Given the description of an element on the screen output the (x, y) to click on. 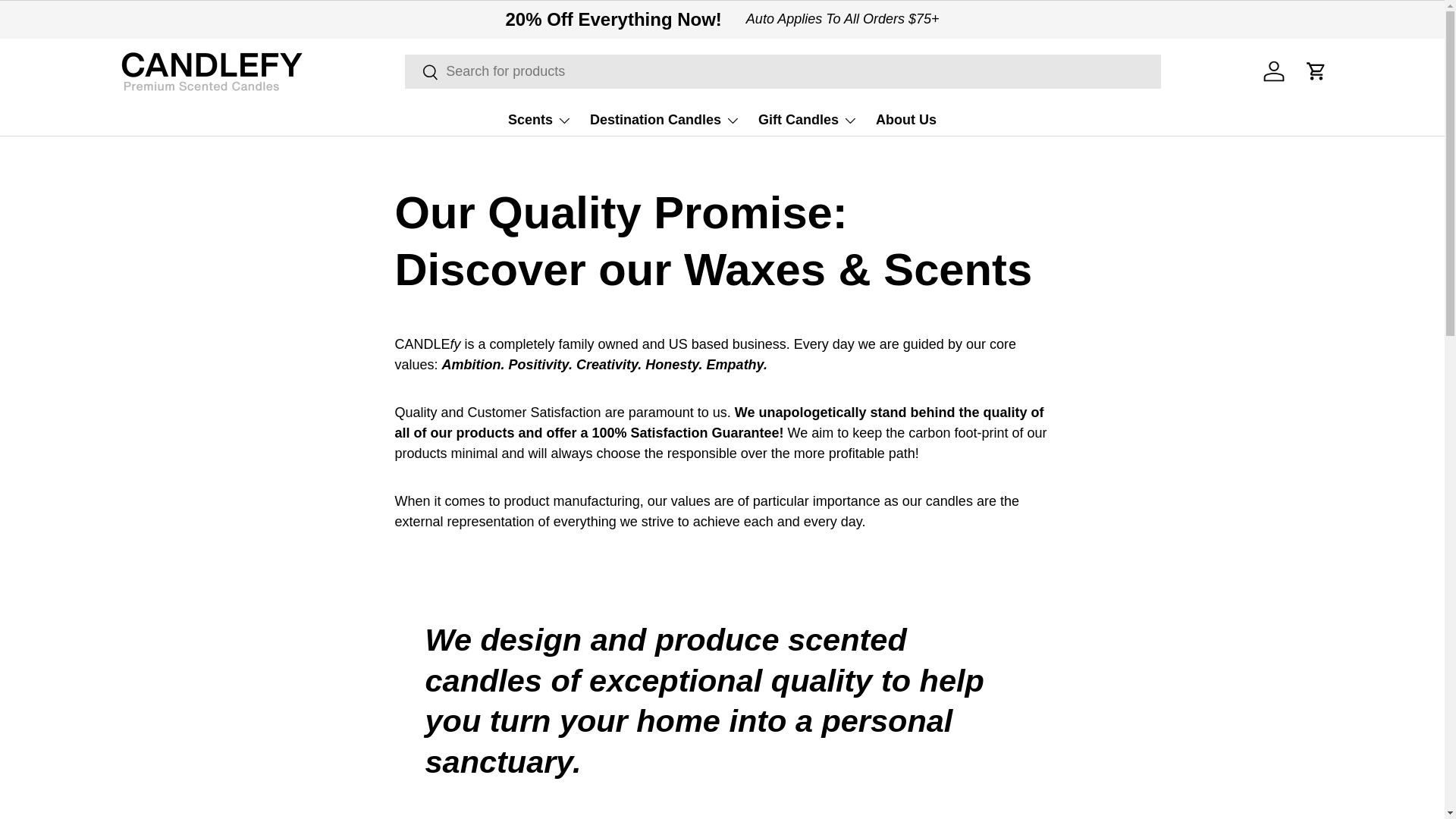
Gift Candles (807, 120)
Destination Candles (664, 120)
Skip to content (68, 21)
Search (421, 72)
Cart (1316, 70)
Scents (540, 120)
Log in (1273, 70)
About Us (906, 120)
